Given the description of an element on the screen output the (x, y) to click on. 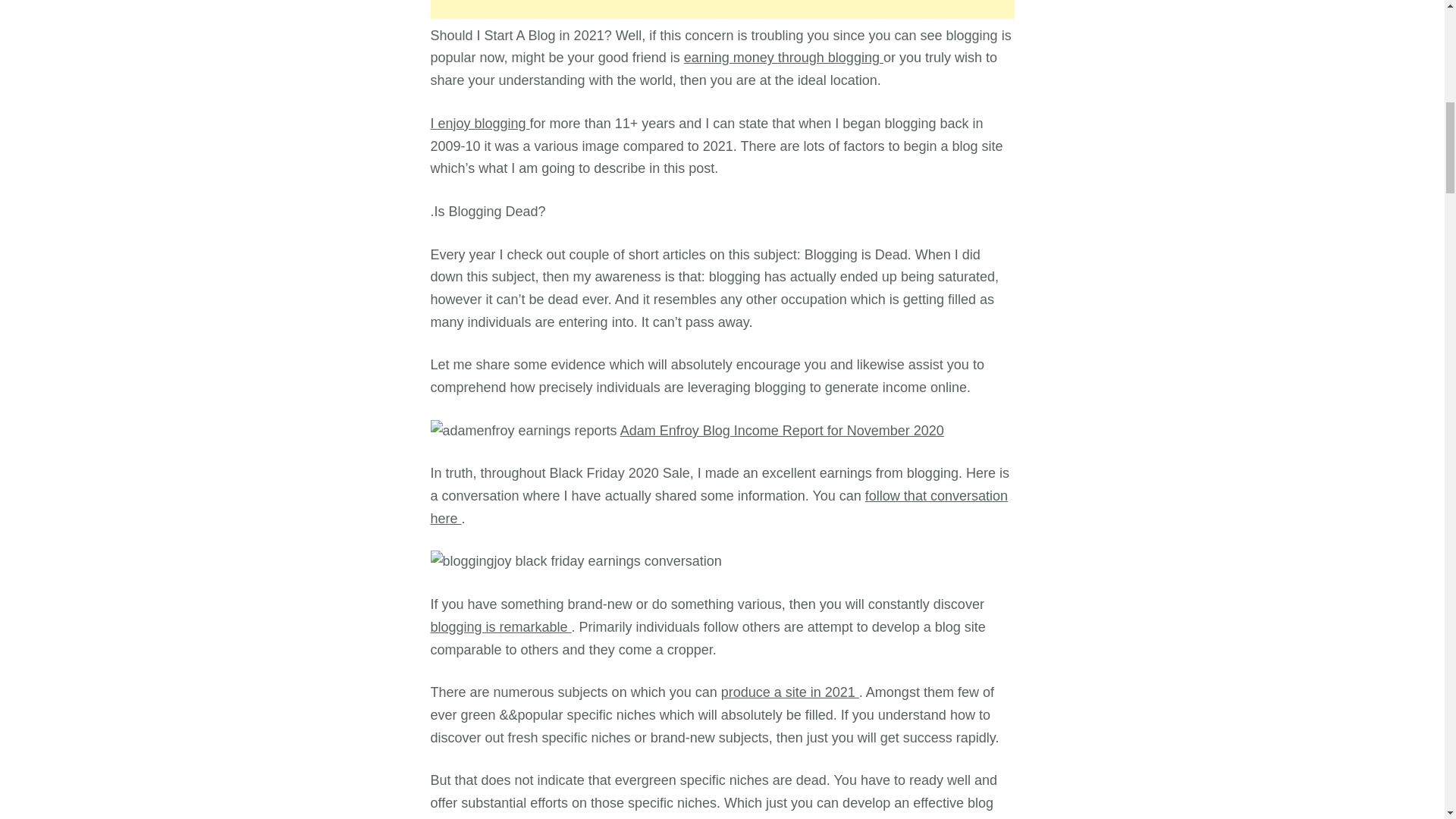
blogging is remarkable (501, 626)
Adam Enfroy Blog Income Report for November 2020 (781, 430)
Advertisement (722, 9)
produce a site in 2021 (789, 692)
I enjoy blogging (479, 123)
follow that conversation here (718, 507)
earning money through blogging (783, 57)
